Given the description of an element on the screen output the (x, y) to click on. 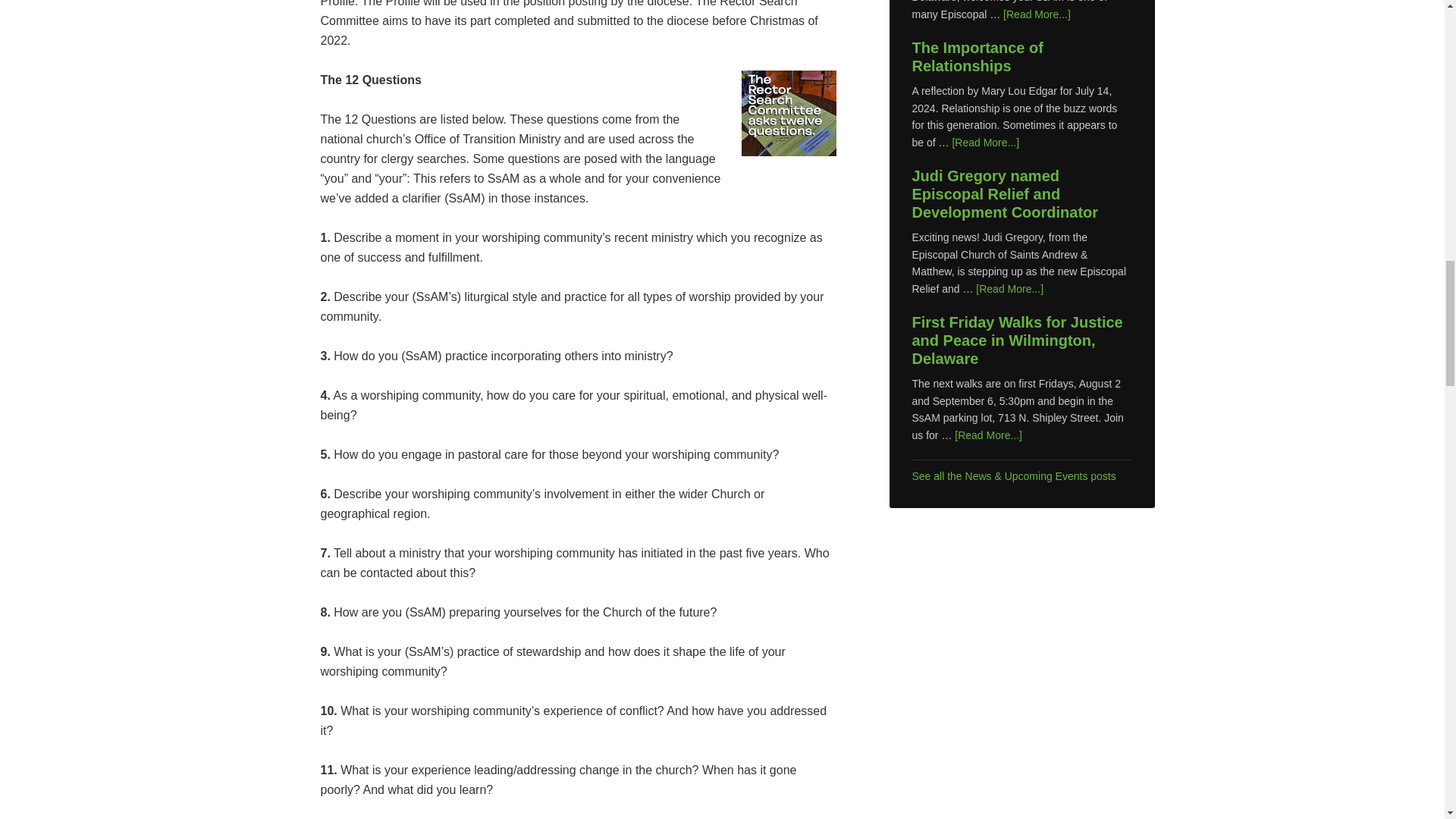
news (1013, 476)
